Given the description of an element on the screen output the (x, y) to click on. 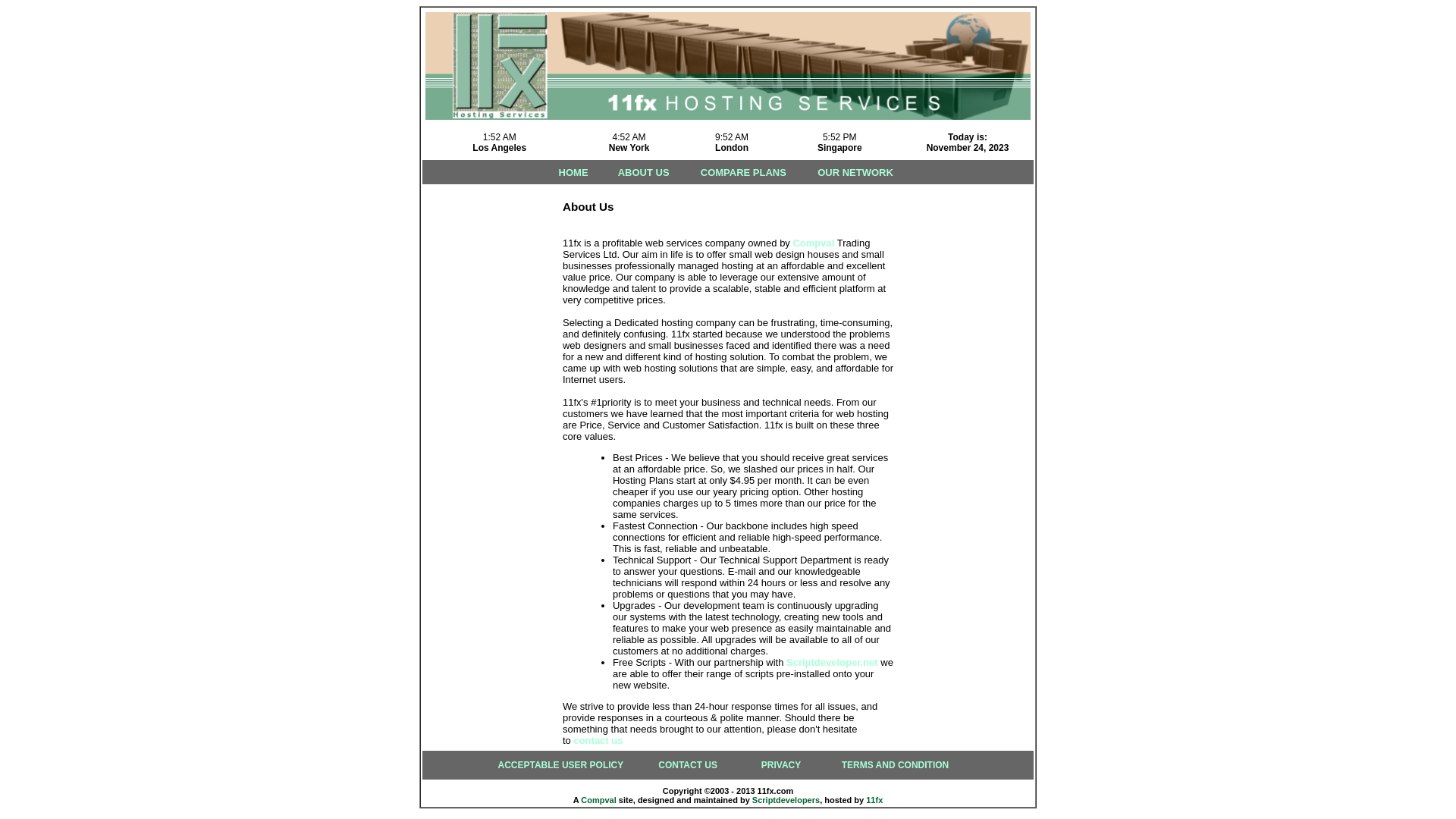
COMPARE PLANS Element type: text (743, 172)
TERMS AND CONDITION Element type: text (895, 764)
contact us Element type: text (597, 740)
ACCEPTABLE USER POLICY Element type: text (560, 764)
Compval Element type: text (597, 799)
Scriptdevelopers Element type: text (785, 799)
Advertisement Element type: hover (972, 413)
OUR NETWORK Element type: text (855, 172)
11fx Element type: text (874, 799)
Advertisement Element type: hover (482, 413)
Scriptdeveloper.net Element type: text (832, 662)
ABOUT US Element type: text (643, 172)
HOME Element type: text (573, 172)
Compval Element type: text (813, 242)
CONTACT US Element type: text (687, 764)
PRIVACY Element type: text (780, 764)
